Given the description of an element on the screen output the (x, y) to click on. 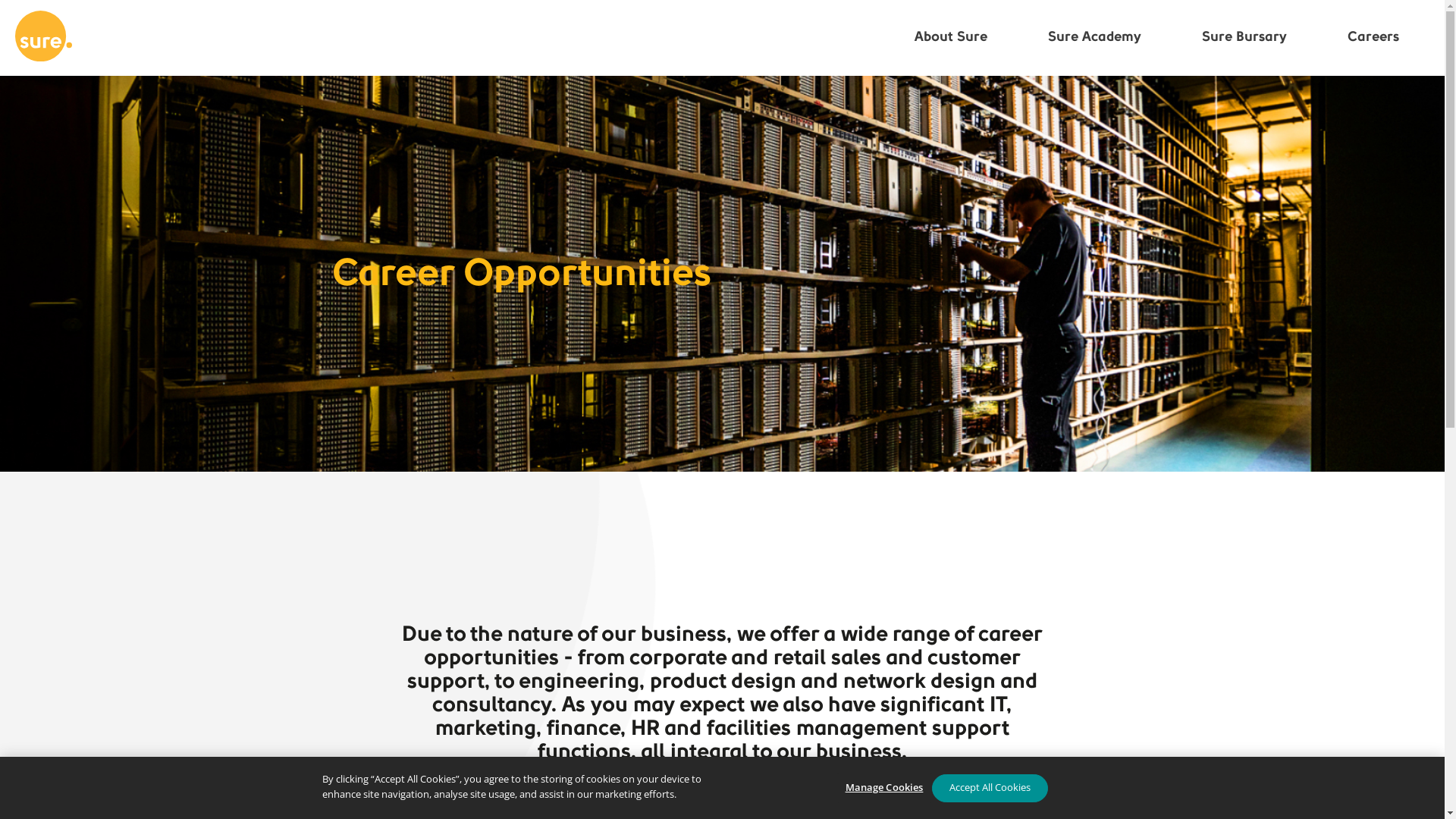
Accept All Cookies Element type: text (989, 787)
Manage Cookies Element type: text (884, 787)
Sure Academy Element type: text (1094, 36)
About Sure Element type: text (950, 36)
Sure Bursary Element type: text (1243, 36)
Careers Element type: text (1373, 36)
